Given the description of an element on the screen output the (x, y) to click on. 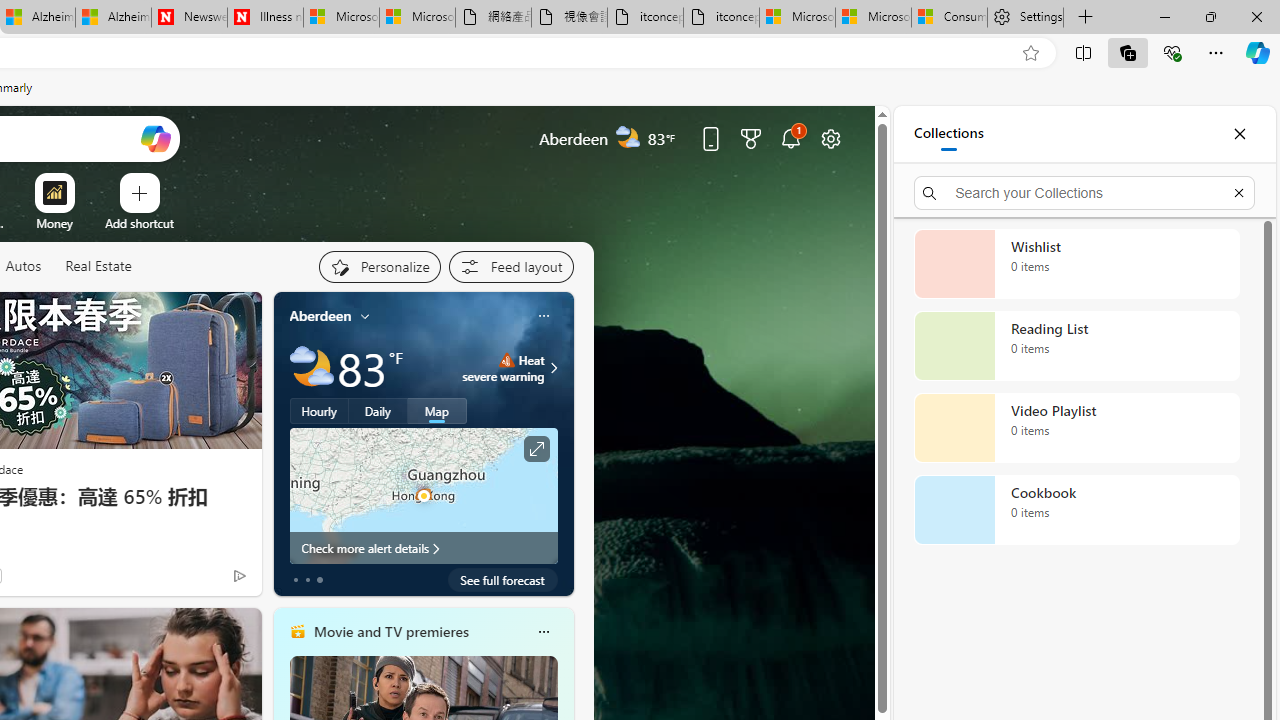
tab-0 (295, 579)
Exit search (1238, 192)
Illness news & latest pictures from Newsweek.com (265, 17)
My location (365, 315)
Heat - Severe Heat severe warning (503, 367)
Check more alert details (423, 547)
Feed settings (510, 266)
tab-2 (319, 579)
Page settings (831, 138)
Cookbook collection, 0 items (1076, 510)
Heat - Severe (505, 359)
